Given the description of an element on the screen output the (x, y) to click on. 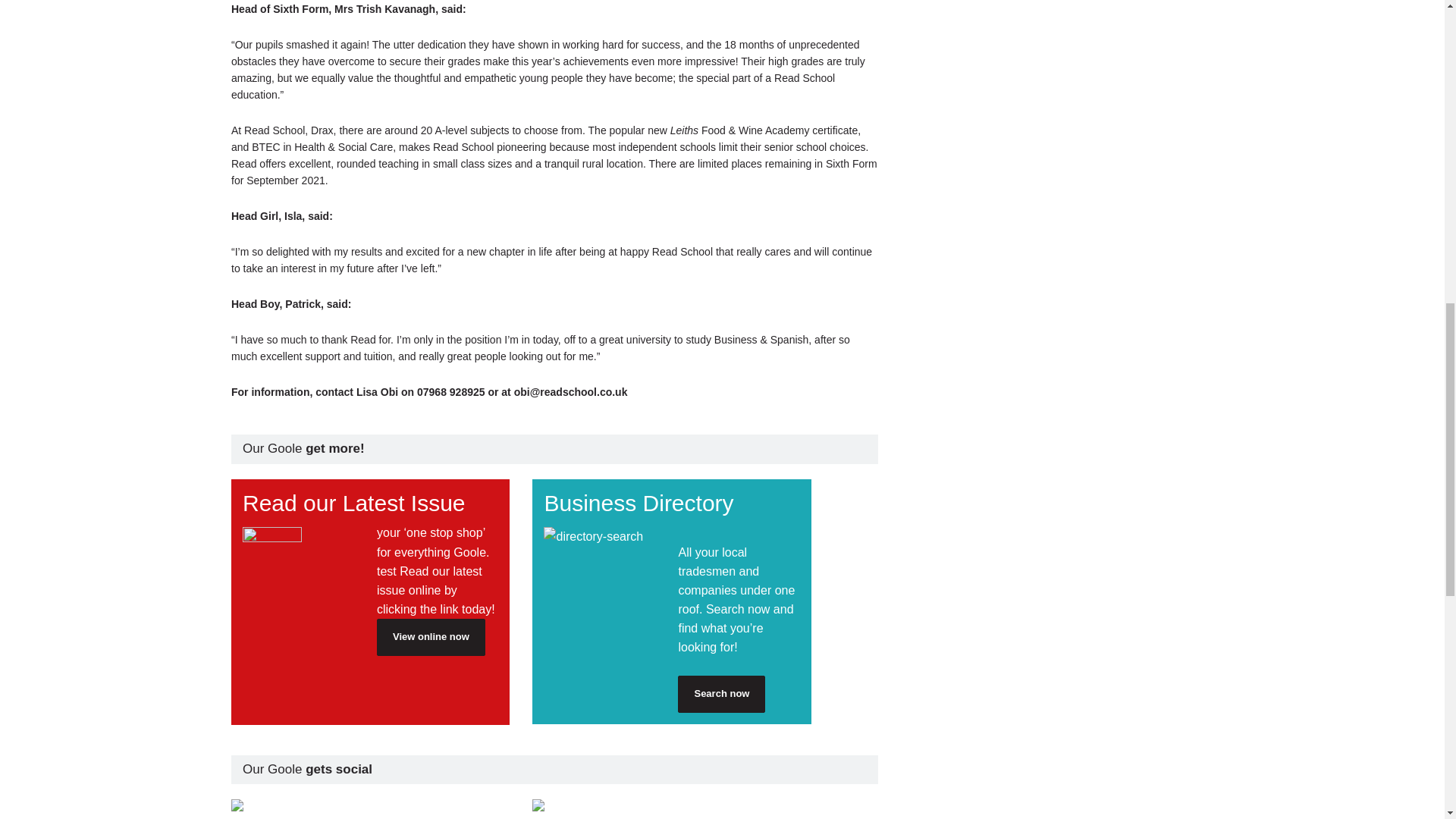
Find us and like on Facebook (671, 805)
Follow us on Twitter (370, 805)
View online now (430, 637)
Search now (721, 693)
